Given the description of an element on the screen output the (x, y) to click on. 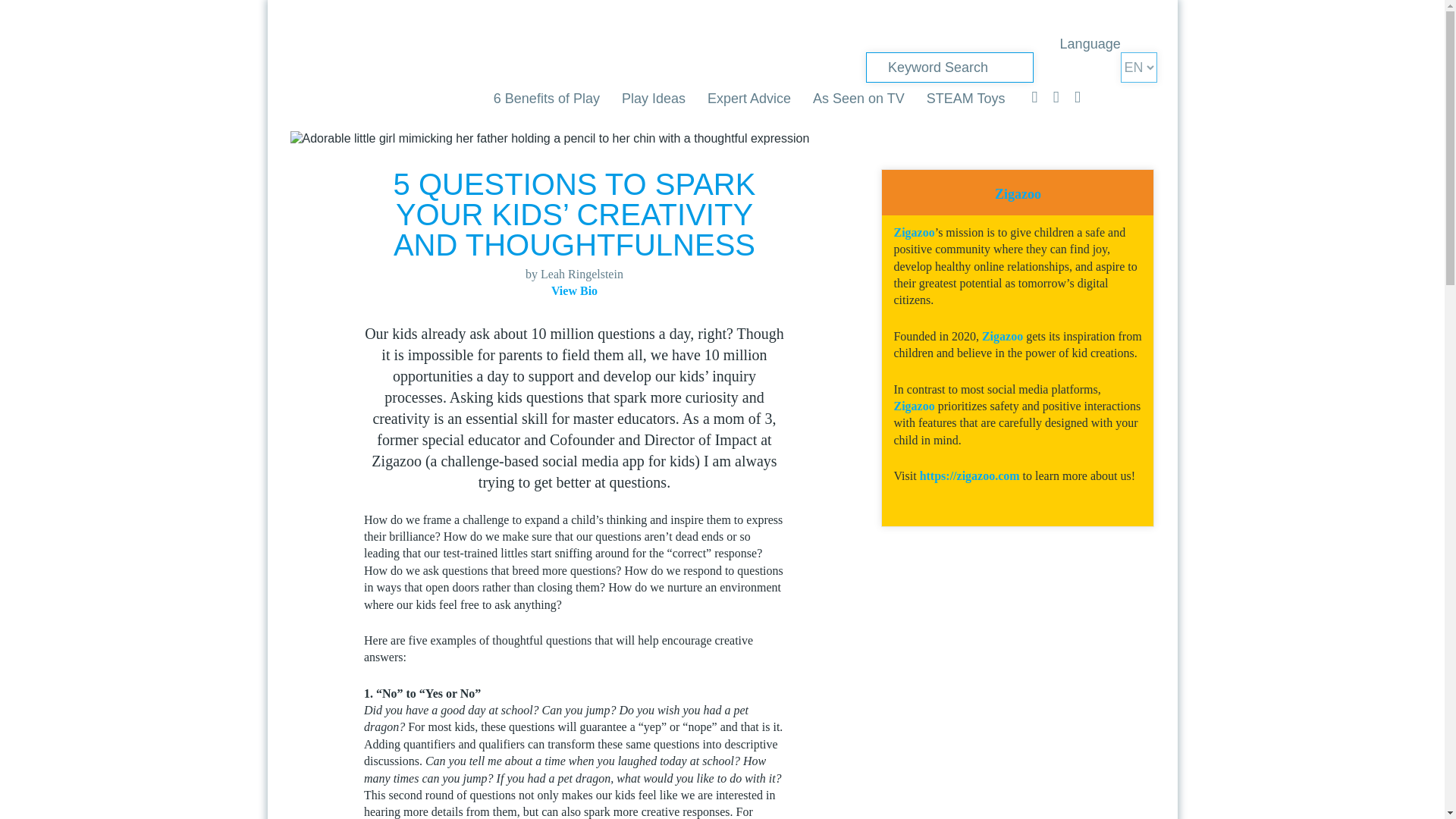
As Seen on TV (858, 98)
Keyword Search (949, 67)
Expert Advice (748, 98)
View Bio (573, 290)
The Genius of Play (334, 67)
6 Benefits of Play (546, 98)
Play Ideas (653, 98)
Keyword Search (949, 67)
STEAM Toys (965, 98)
Home (334, 67)
